Given the description of an element on the screen output the (x, y) to click on. 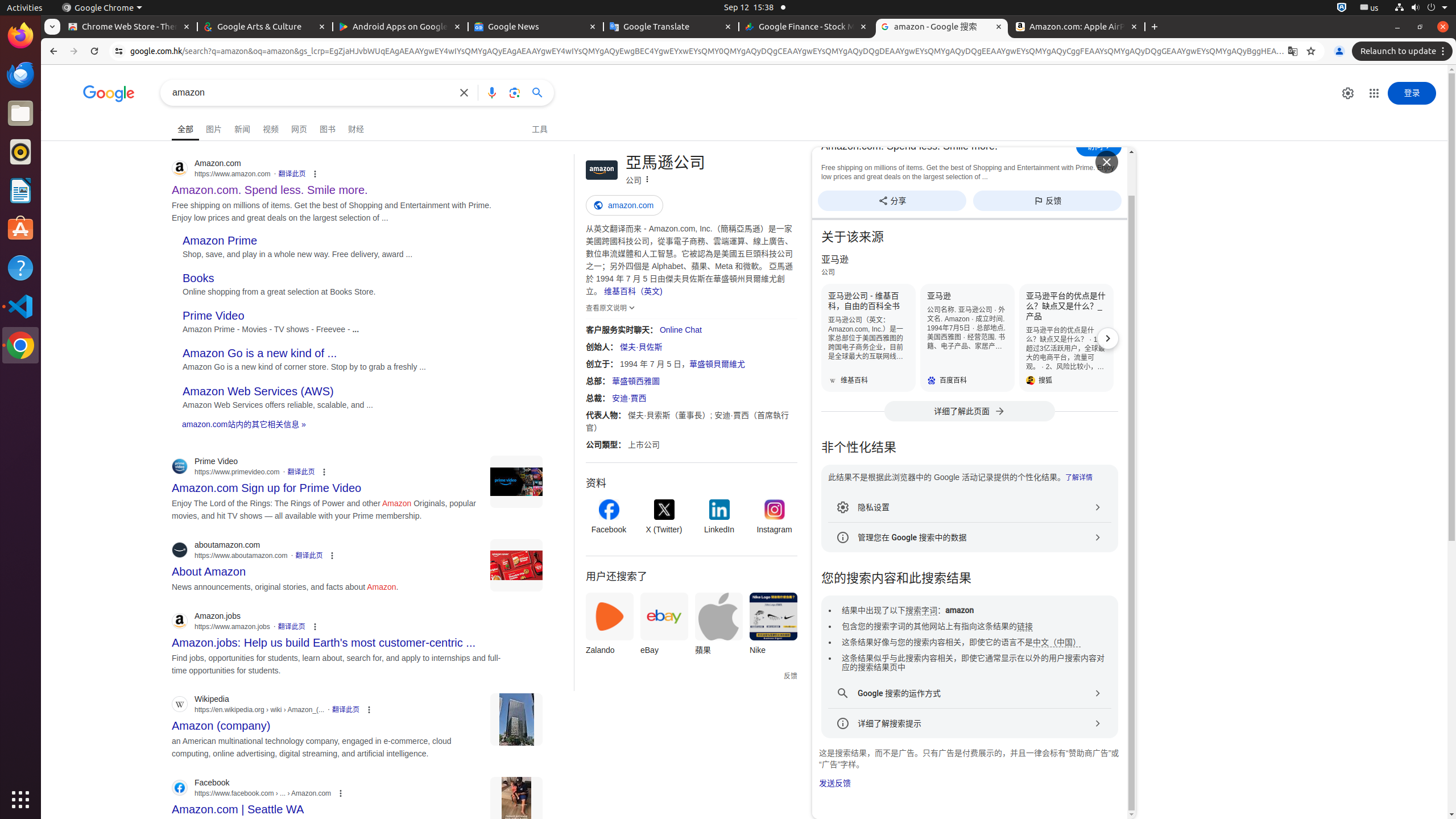
结果中出现了以下搜索字词：amazon Element type: push-button (907, 610)
Books Element type: link (198, 277)
 Amazon.com | Seattle WA Facebook https://www.facebook.com › ... › Amazon.com Element type: link (237, 805)
管理您在 Google 搜索中的数据 Element type: link (969, 537)
View site information Element type: push-button (118, 51)
